Given the description of an element on the screen output the (x, y) to click on. 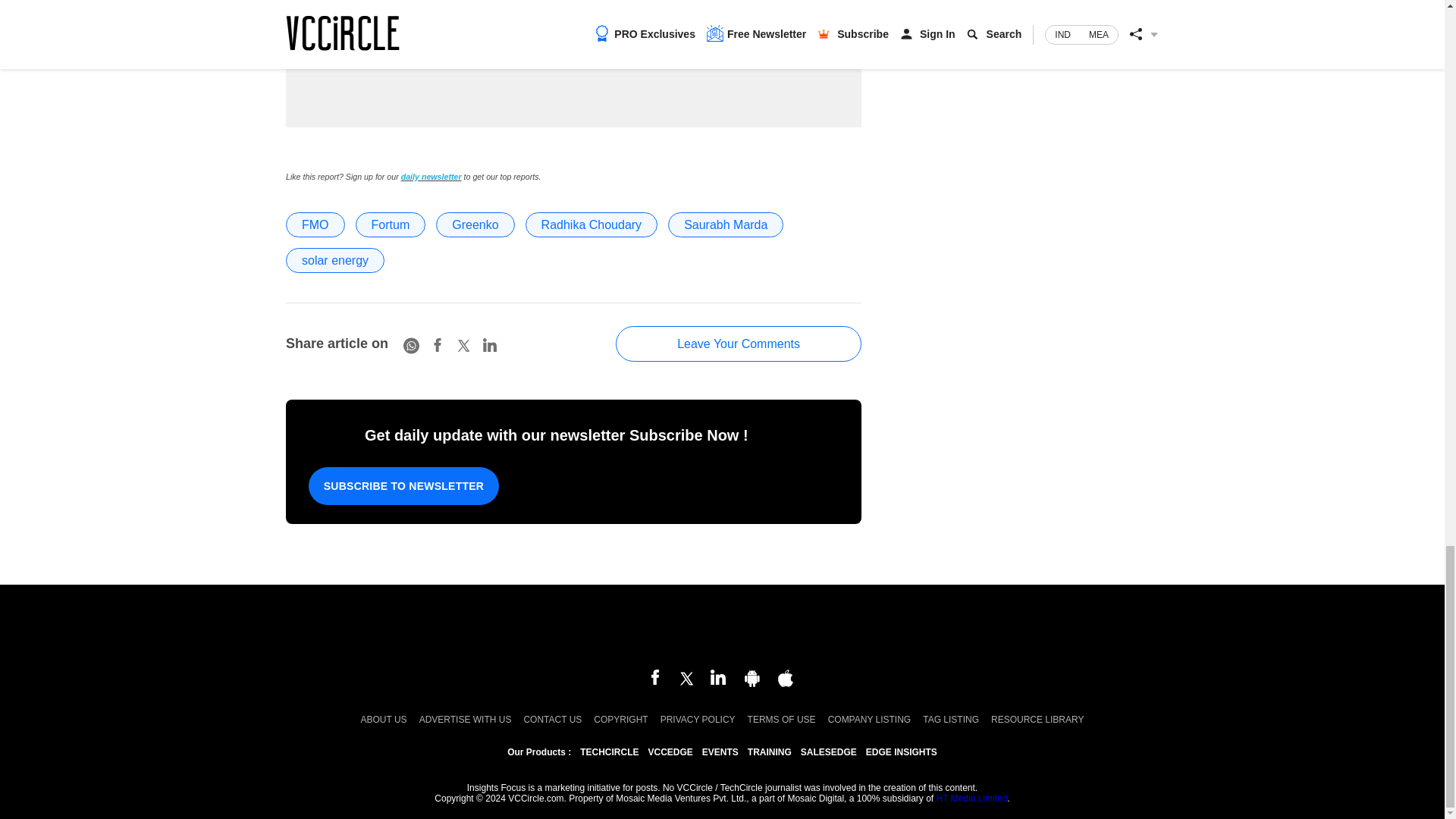
FMO (315, 224)
SUBSCRIBE TO NEWSLETTER (403, 485)
Radhika Choudary (591, 224)
solar energy (334, 260)
Greenko (474, 224)
Leave Your Comments (738, 343)
Mosaic Digital (721, 628)
Saurabh Marda (725, 224)
daily newsletter (431, 175)
Fortum (390, 224)
